Given the description of an element on the screen output the (x, y) to click on. 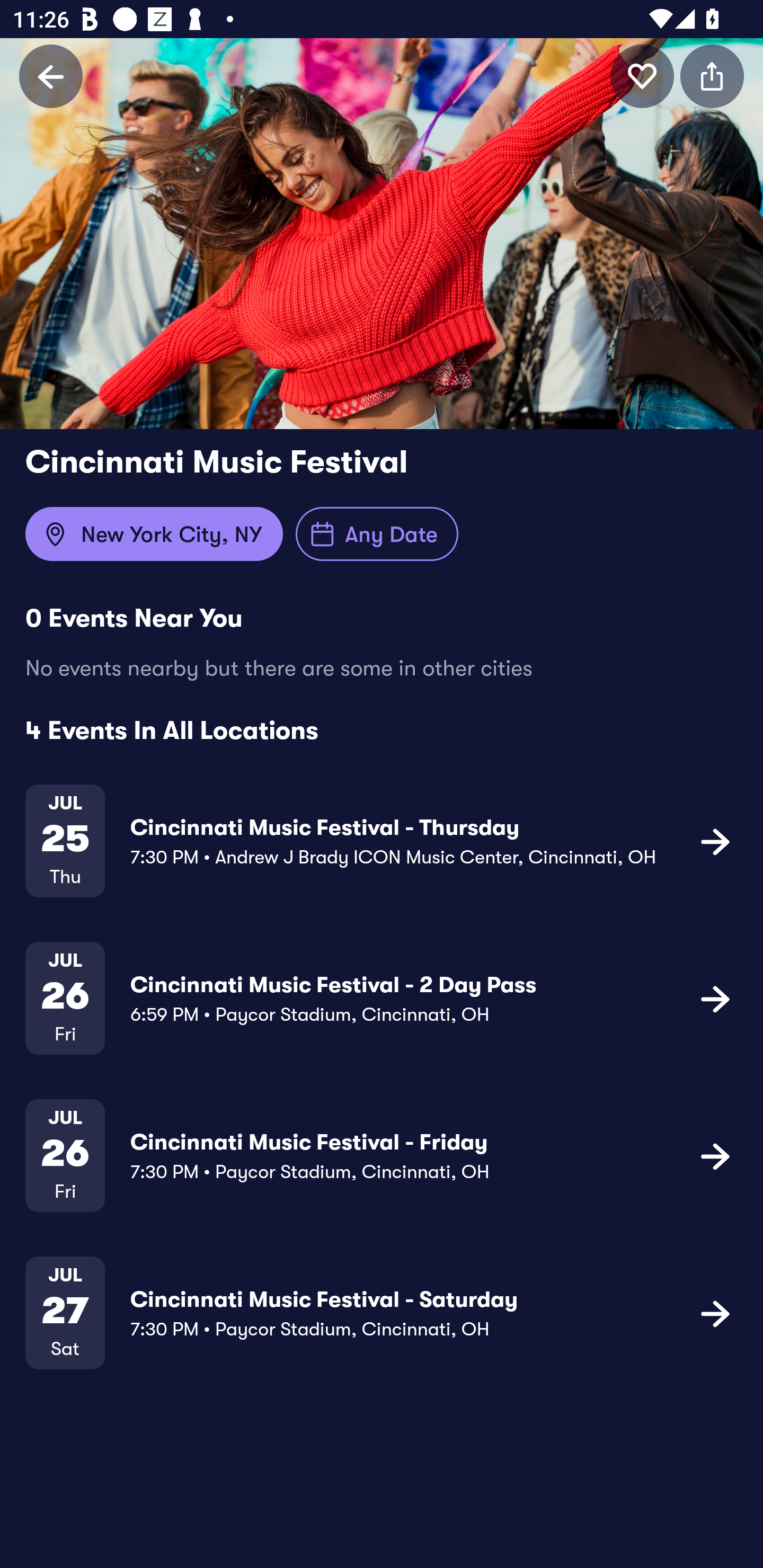
Back (50, 75)
icon button (641, 75)
icon button (711, 75)
New York City, NY (153, 533)
Any Date (377, 533)
icon button (714, 840)
icon button (714, 998)
icon button (714, 1155)
icon button (714, 1312)
